Given the description of an element on the screen output the (x, y) to click on. 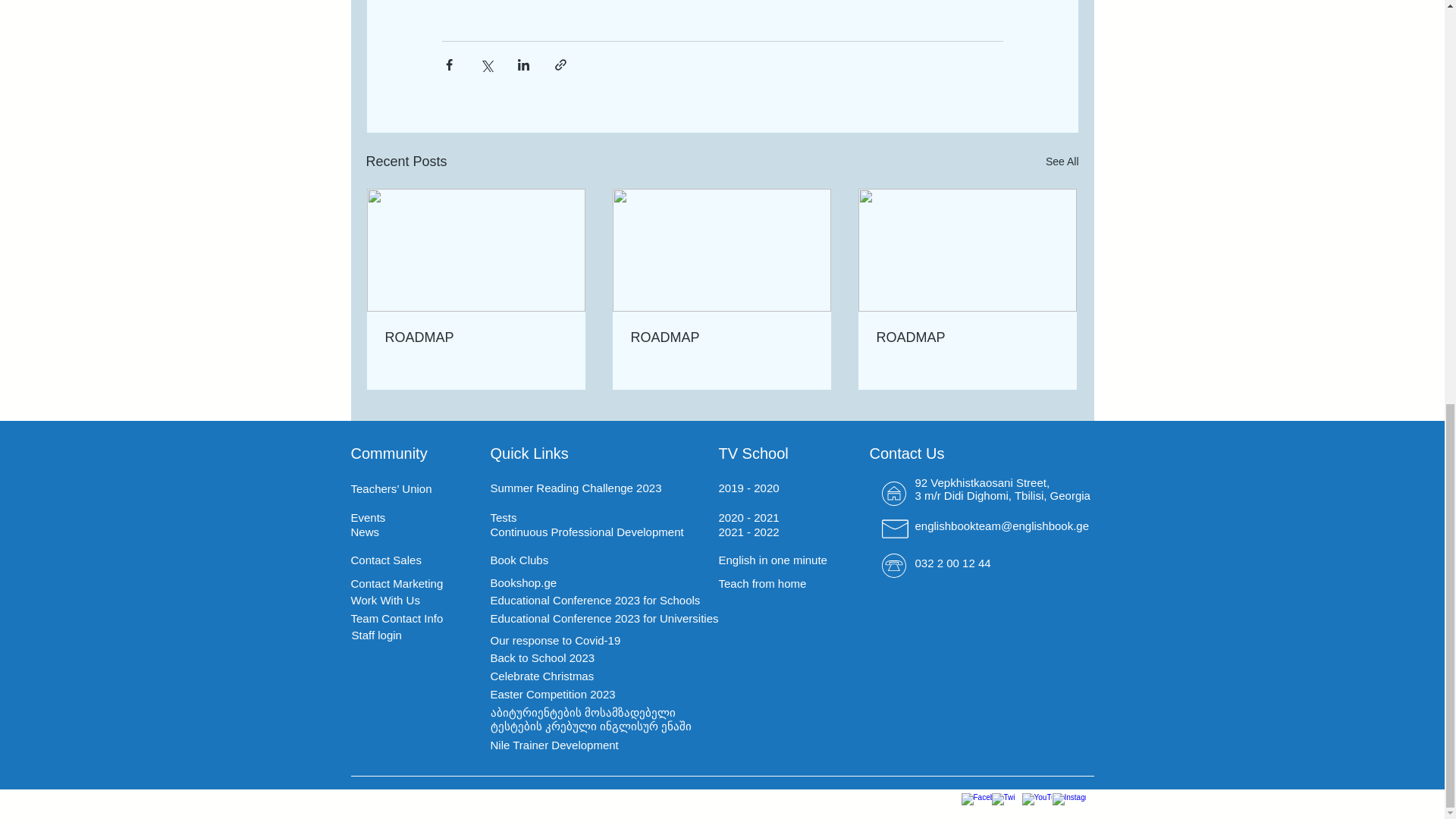
2019 - 2020 (748, 487)
News (364, 531)
Work With Us (384, 599)
ROADMAP (476, 337)
Summer Reading Challenge 2023 (575, 487)
Tests (502, 517)
Staff login (376, 634)
Contact Marketing (396, 583)
Bookshop.ge (522, 582)
2020 - 2021 (748, 517)
